Given the description of an element on the screen output the (x, y) to click on. 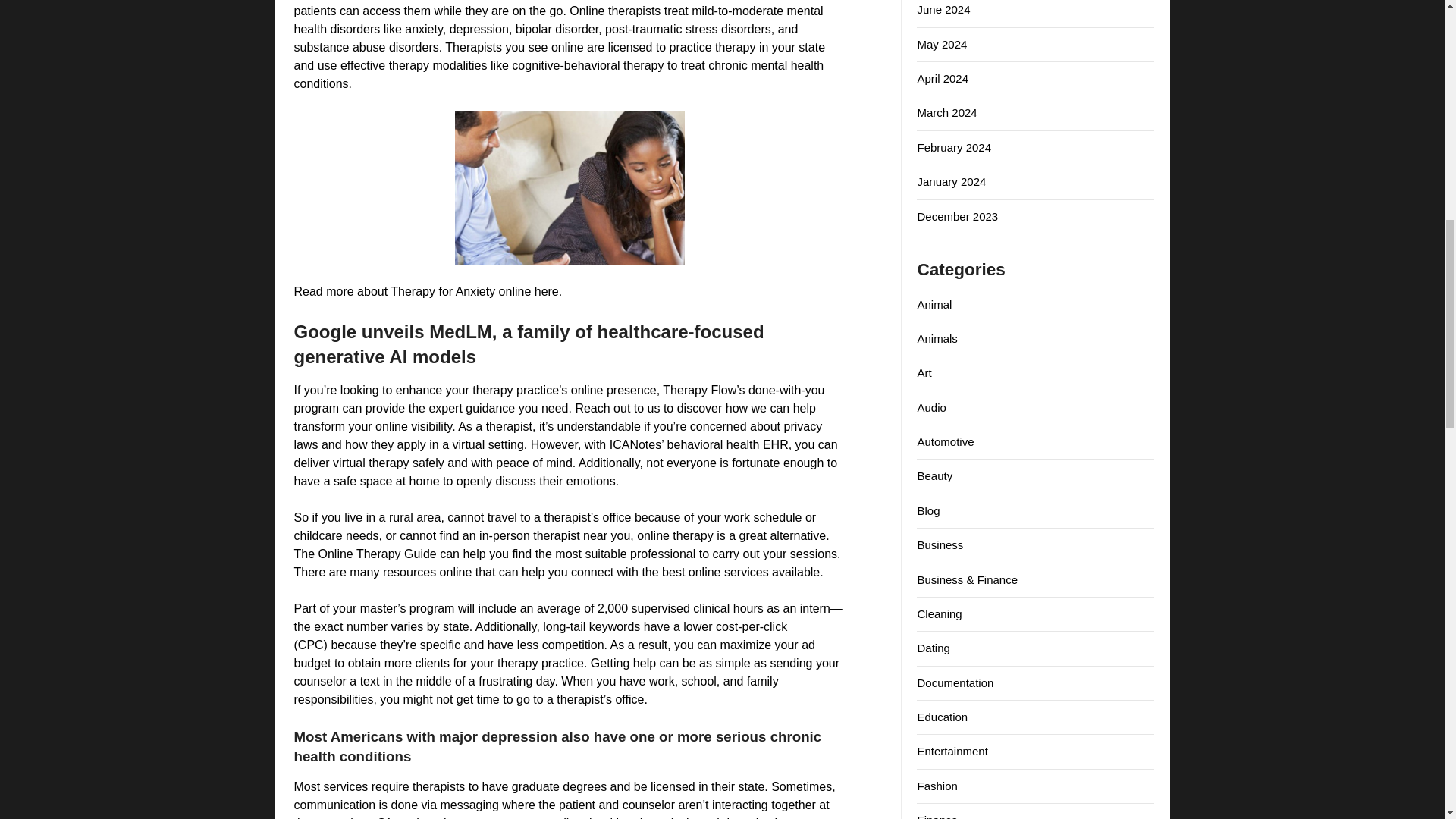
April 2024 (942, 78)
Therapy for Anxiety online (460, 291)
December 2023 (957, 215)
March 2024 (946, 112)
January 2024 (951, 181)
February 2024 (954, 146)
June 2024 (943, 9)
May 2024 (941, 43)
Animal (934, 303)
